Given the description of an element on the screen output the (x, y) to click on. 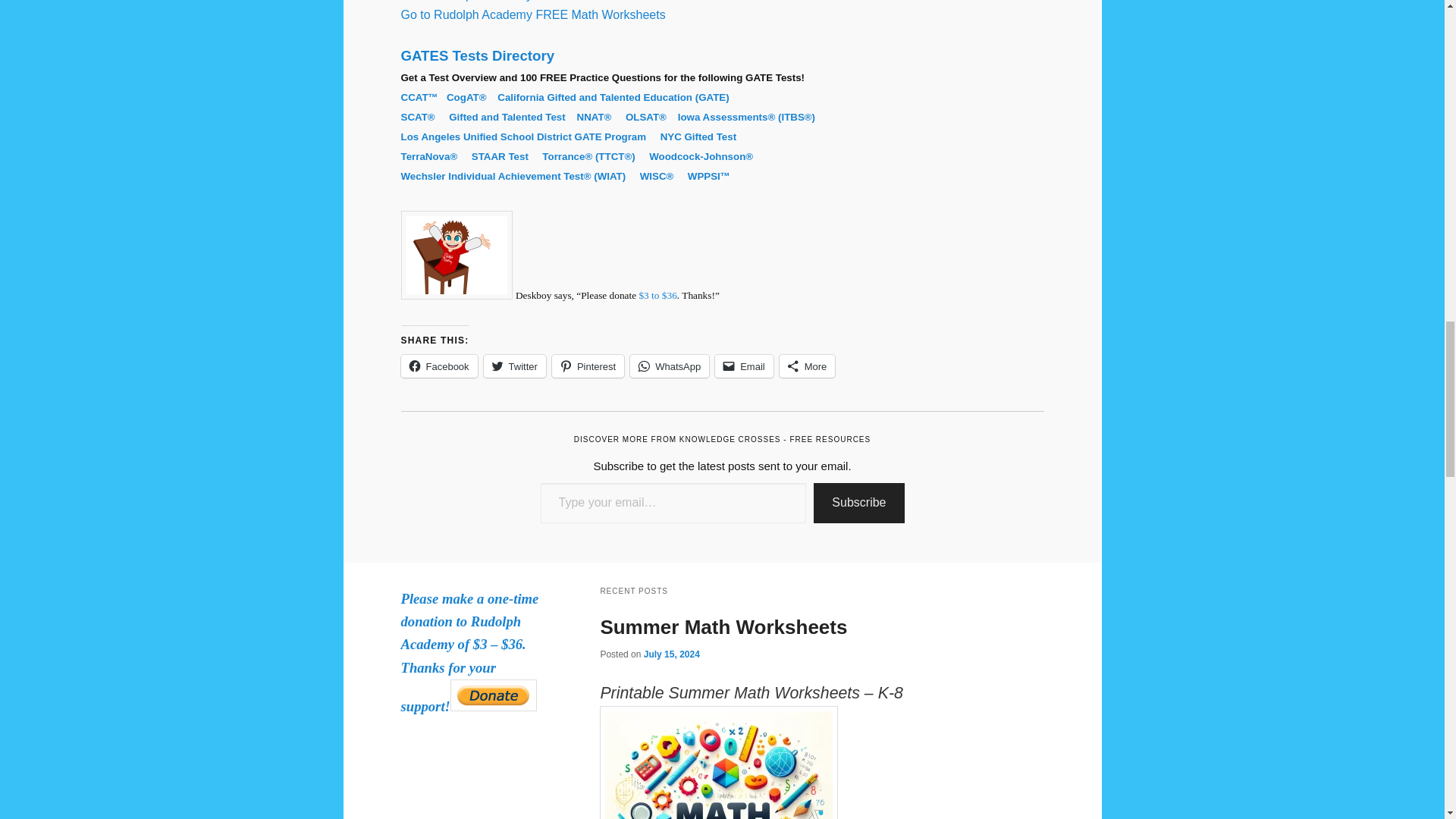
5:07 pm (671, 654)
Click to share on Facebook (438, 365)
Please fill in this field. (673, 503)
Click to share on WhatsApp (669, 365)
Click to email a link to a friend (743, 365)
Click to share on Twitter (514, 365)
Click to share on Pinterest (587, 365)
